Given the description of an element on the screen output the (x, y) to click on. 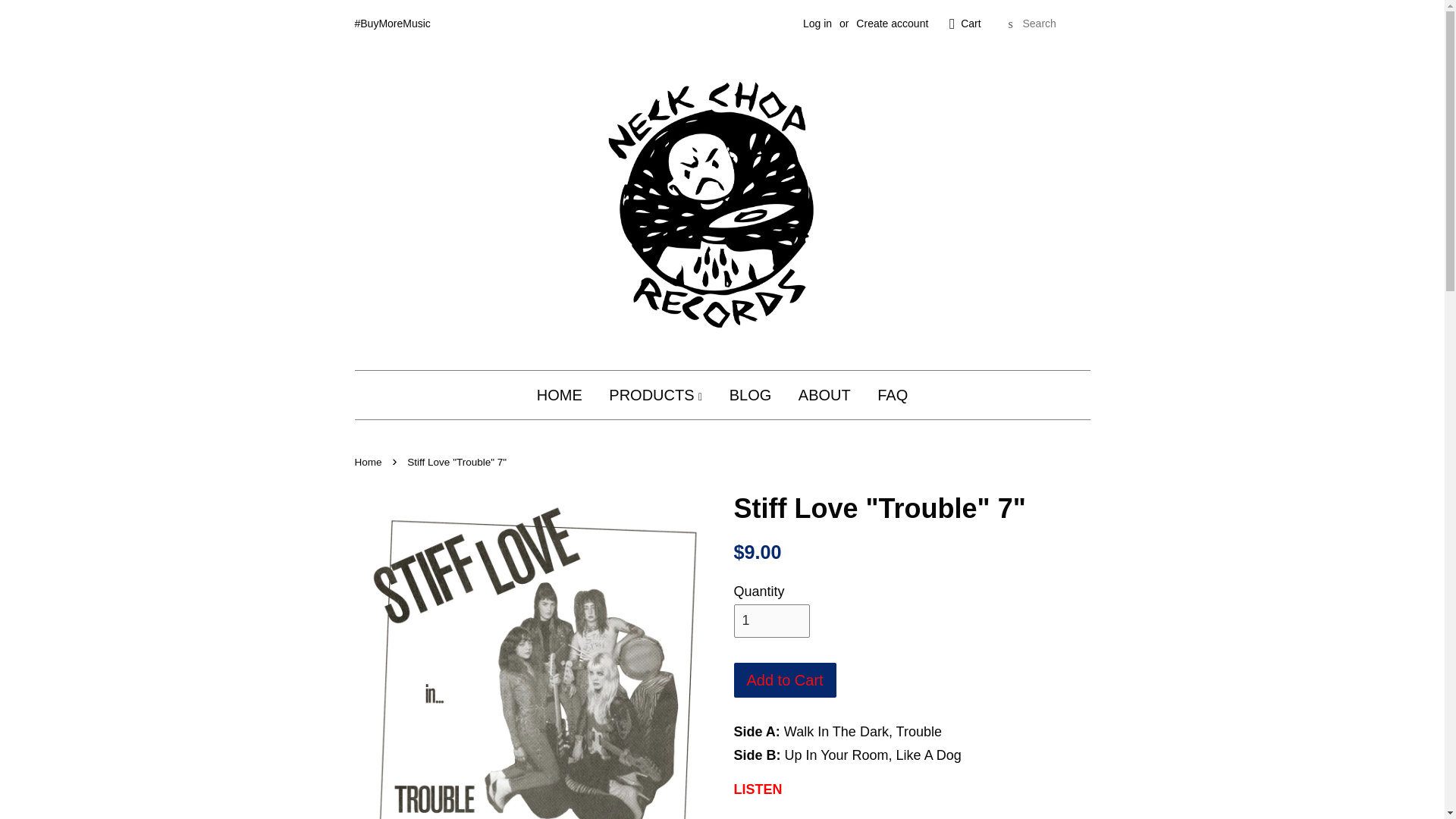
LISTEN (758, 789)
Log in (817, 23)
Search (1010, 24)
HOME (565, 395)
Cart (969, 24)
BLOG (750, 395)
PRODUCTS (654, 395)
Add to Cart (784, 679)
Create account (892, 23)
1 (771, 621)
Back to the frontpage (370, 461)
ABOUT (824, 395)
Home (370, 461)
